Given the description of an element on the screen output the (x, y) to click on. 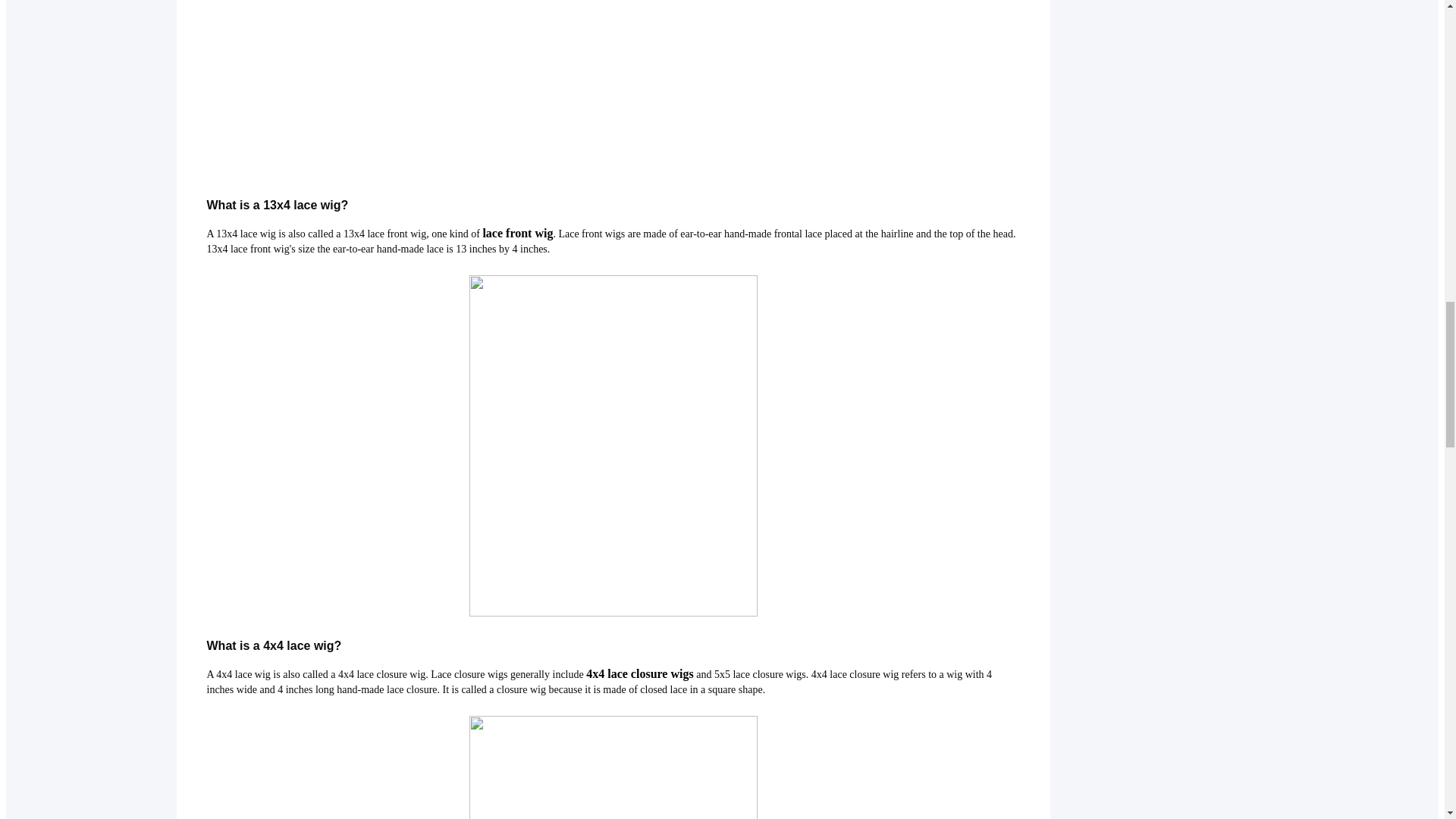
lace front wig (517, 233)
4x4 lace closure wigs (639, 674)
